Given the description of an element on the screen output the (x, y) to click on. 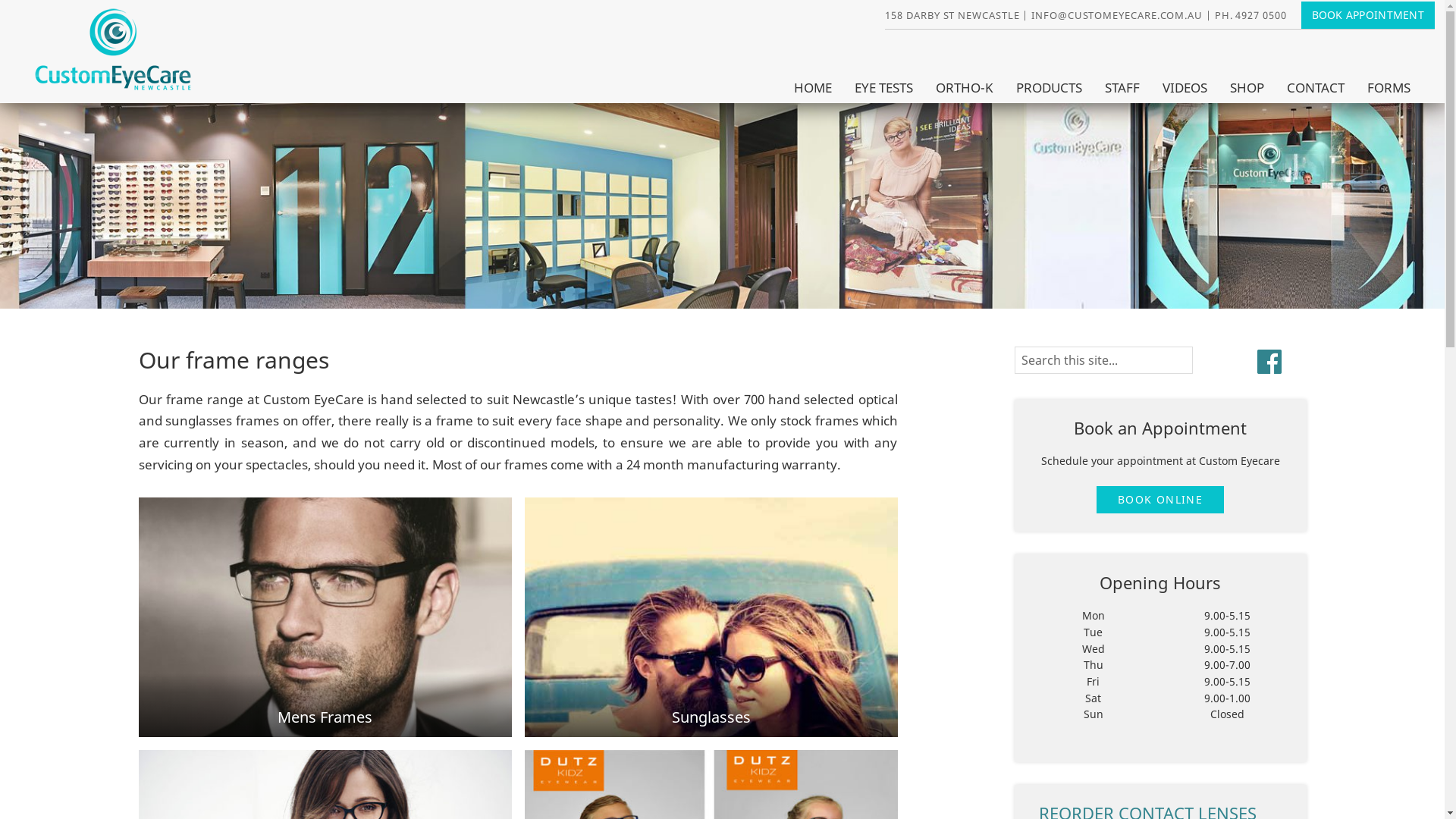
PRODUCTS Element type: text (1048, 87)
Sunglasses Element type: text (710, 716)
EYE TESTS Element type: text (883, 87)
PH. 4927 0500 Element type: text (1250, 14)
BOOK APPOINTMENT Element type: text (1367, 14)
ORTHO-K Element type: text (964, 87)
CONTACT Element type: text (1315, 87)
Skip to primary navigation Element type: text (0, 0)
INFO@CUSTOMEYECARE.COM.AU Element type: text (1116, 14)
FORMS Element type: text (1388, 87)
VIDEOS Element type: text (1184, 87)
BOOK ONLINE Element type: text (1159, 499)
HOME Element type: text (812, 87)
STAFF Element type: text (1122, 87)
Mens Frames Element type: text (324, 716)
158 DARBY ST NEWCASTLE Element type: text (951, 14)
SHOP Element type: text (1246, 87)
